Given the description of an element on the screen output the (x, y) to click on. 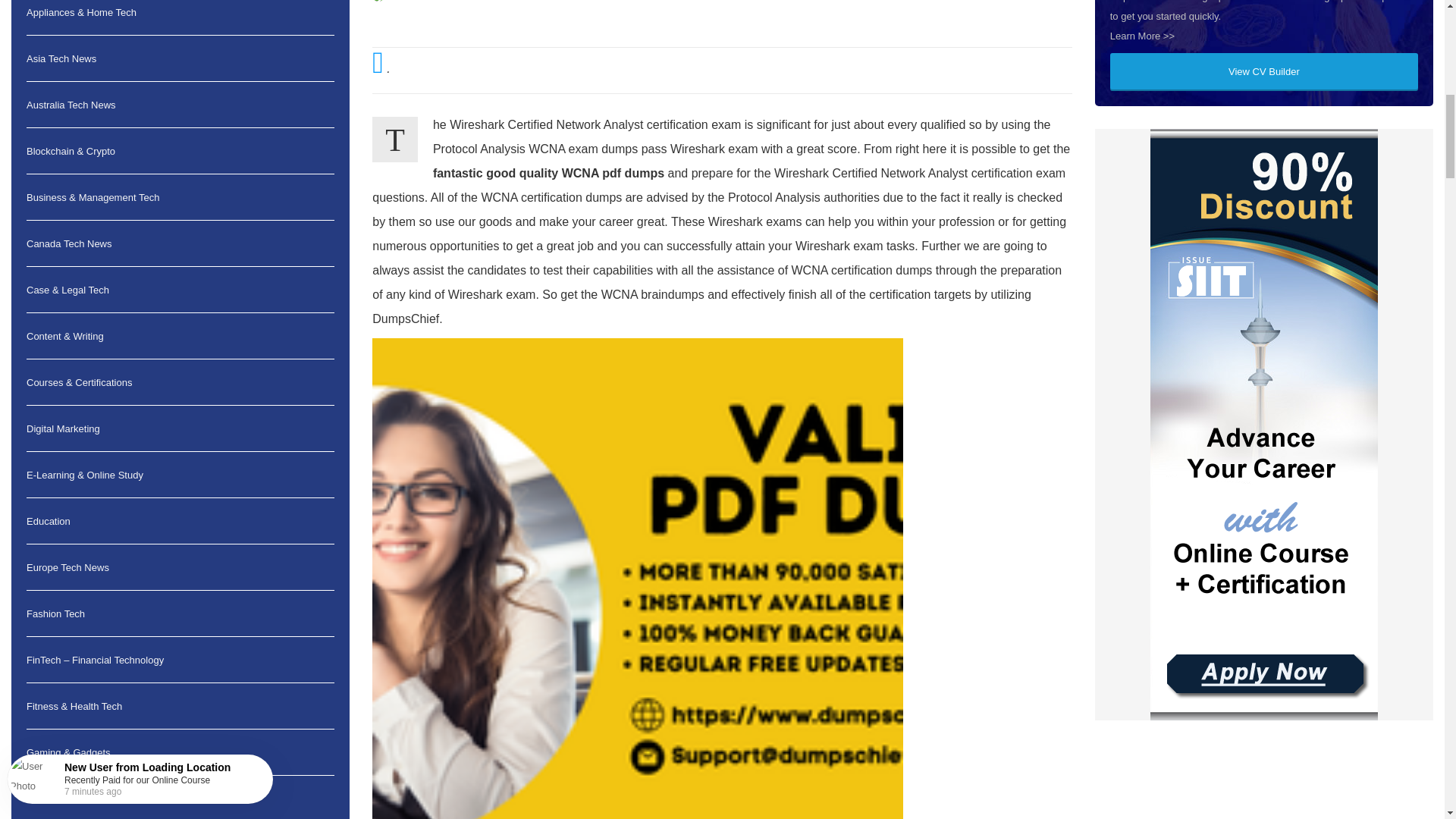
View CV Builder (1263, 71)
